Given the description of an element on the screen output the (x, y) to click on. 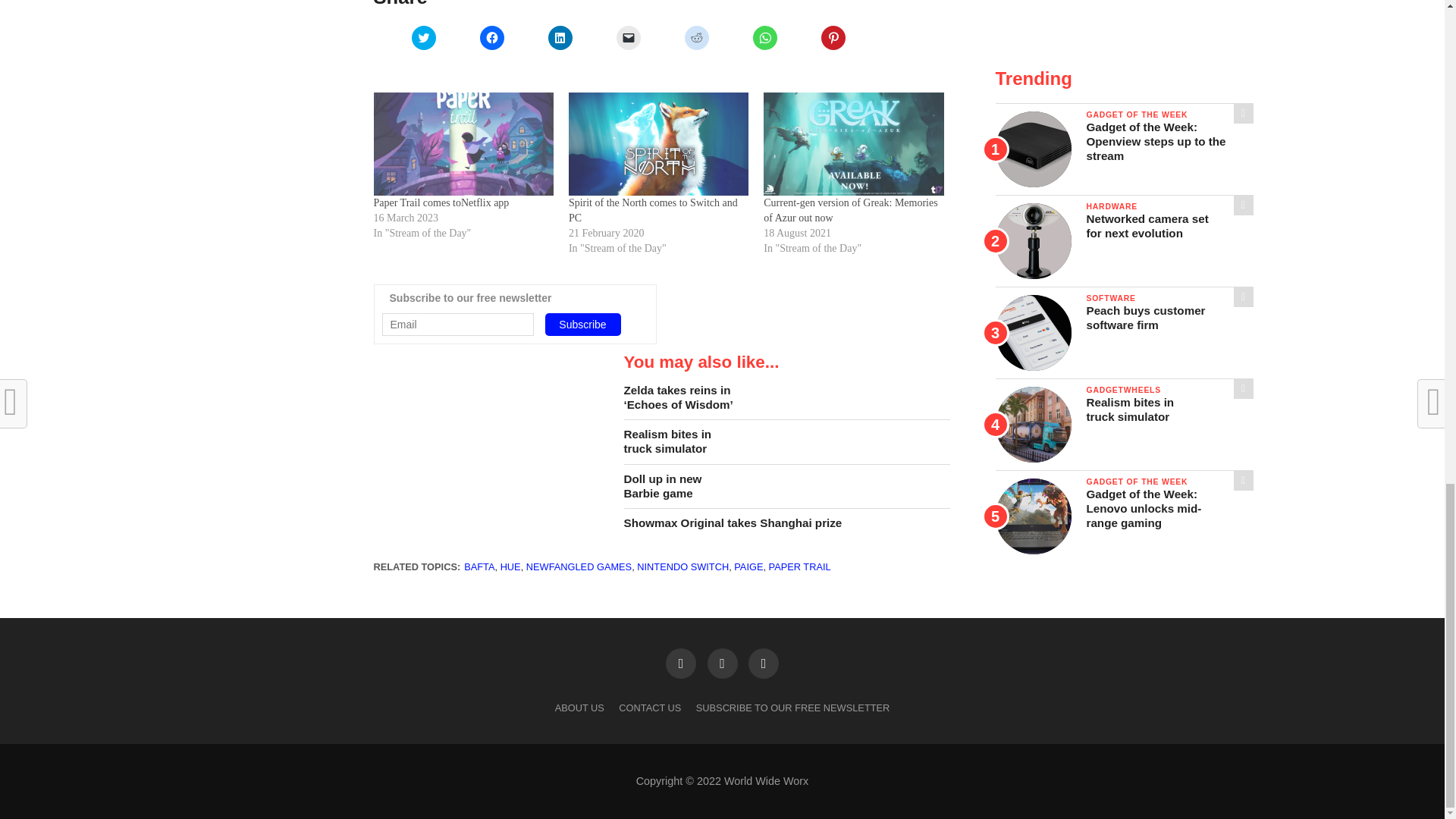
Subscribe (582, 323)
Click to share on Twitter (422, 37)
Click to share on LinkedIn (559, 37)
Click to share on Facebook (491, 37)
